Given the description of an element on the screen output the (x, y) to click on. 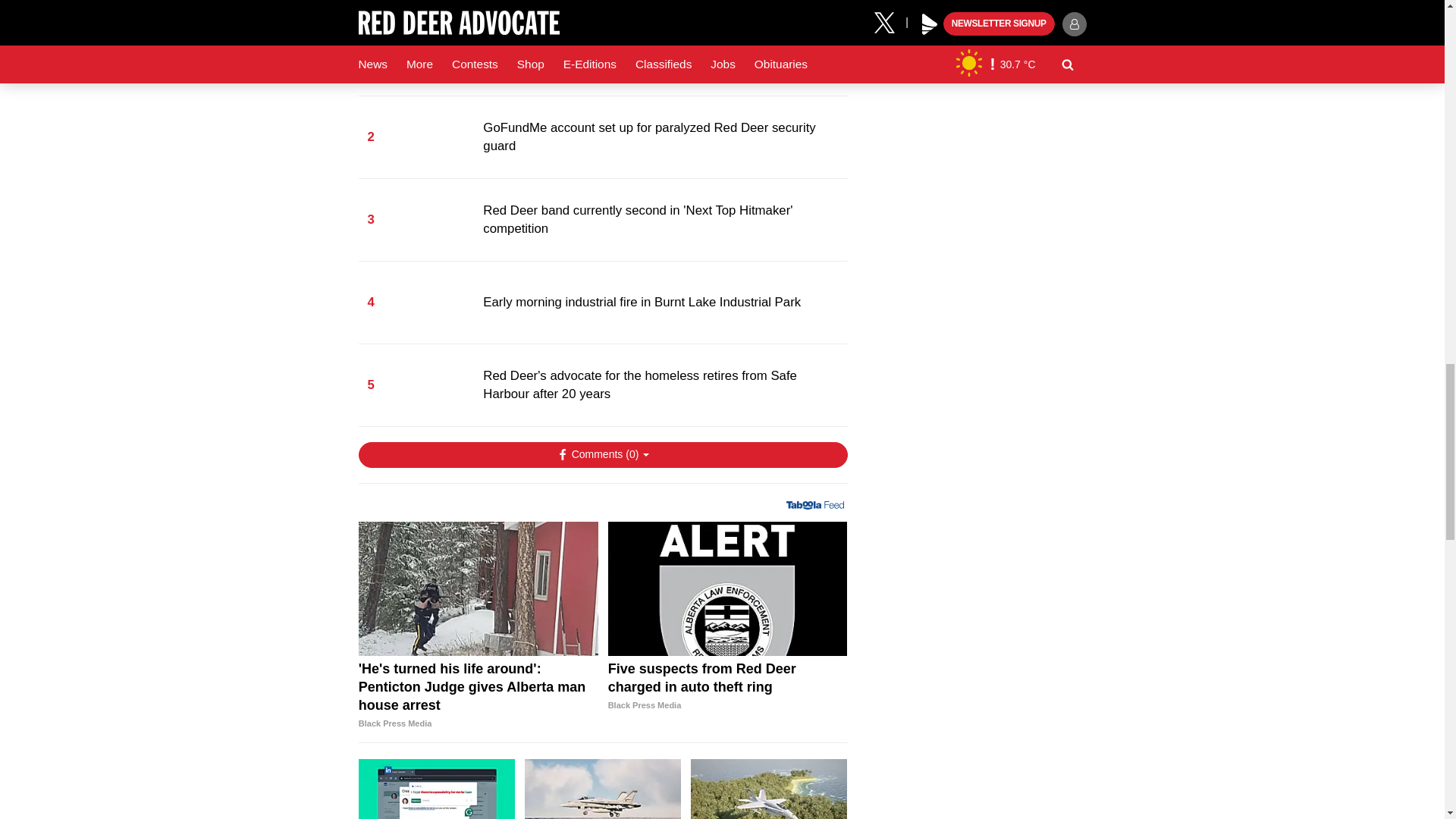
Five suspects from Red Deer charged in auto theft ring (727, 687)
Five suspects from Red Deer charged in auto theft ring (727, 588)
Show Comments (602, 454)
What is your writing missing? (436, 789)
